Given the description of an element on the screen output the (x, y) to click on. 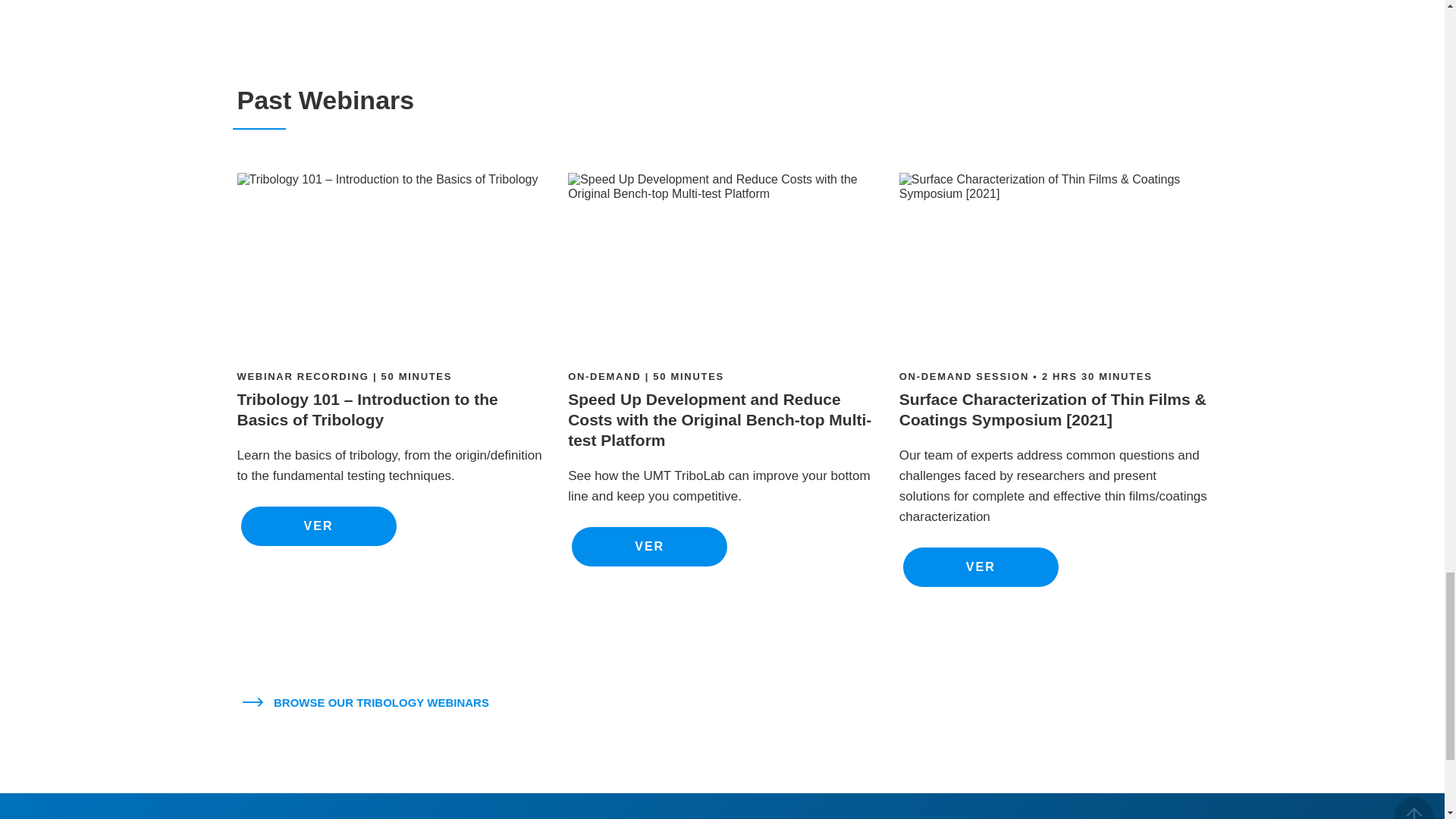
VER (649, 546)
VER (318, 526)
